Given the description of an element on the screen output the (x, y) to click on. 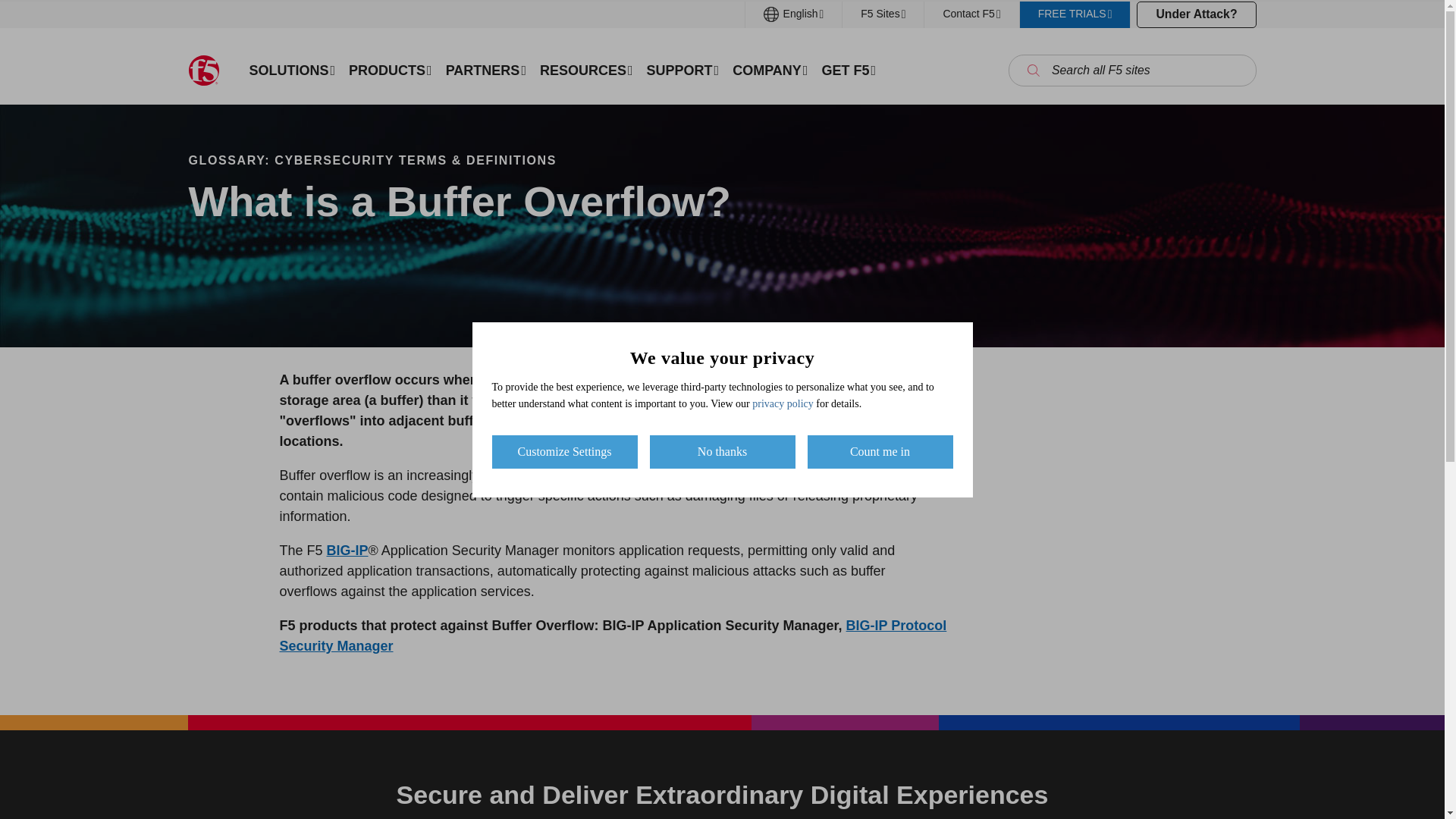
RESOURCES (586, 69)
FREE TRIALS (1075, 13)
BIG-IP Protocol Security Manager (612, 635)
F5 Sites (883, 13)
SUPPORT (683, 69)
PARTNERS (485, 69)
F5 (202, 70)
GET F5 (847, 69)
Under Attack? (1196, 14)
SOLUTIONS (292, 69)
